Given the description of an element on the screen output the (x, y) to click on. 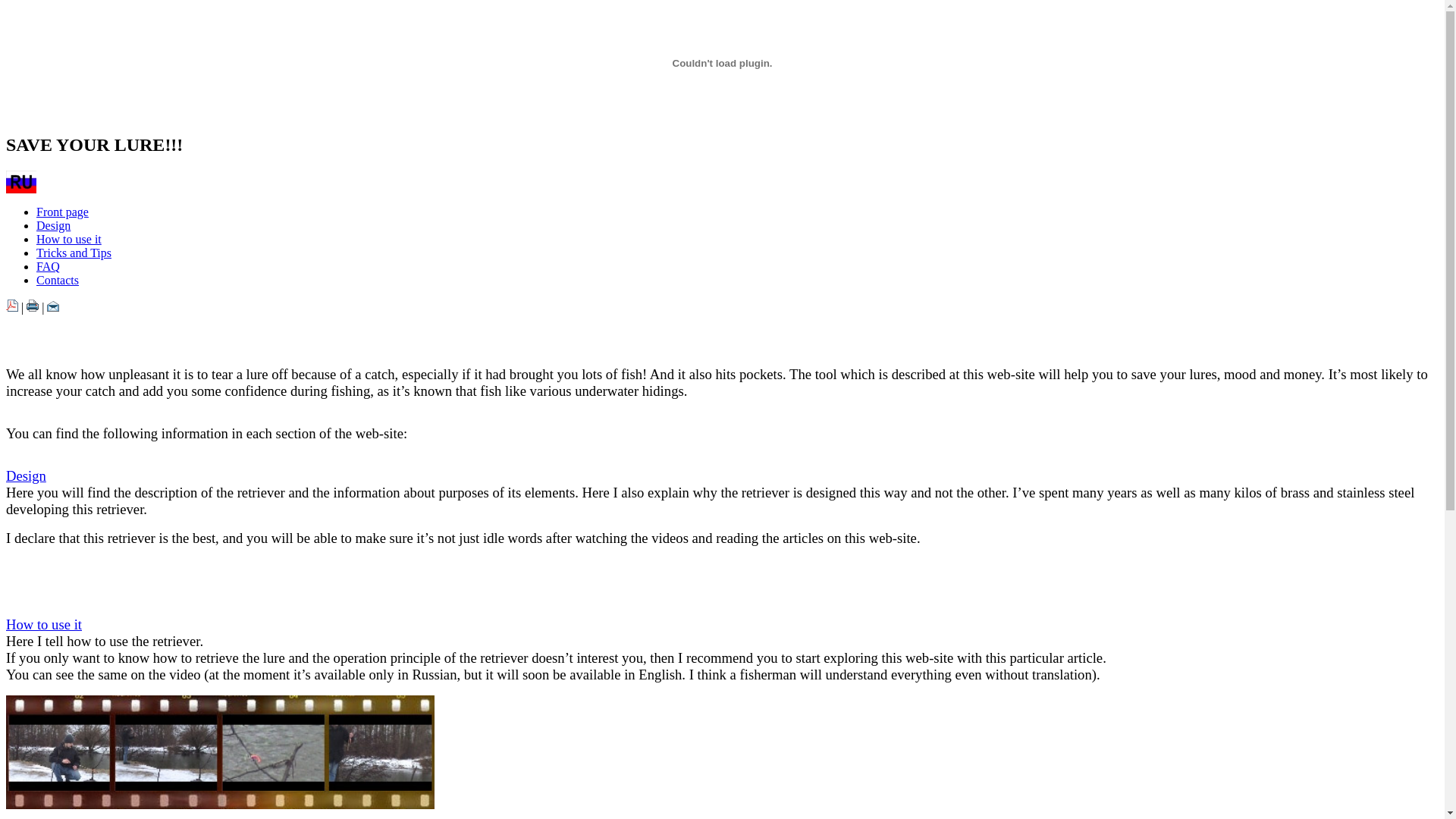
Design Element type: text (53, 225)
FAQ Element type: text (47, 266)
Design Element type: text (26, 476)
How to use it Element type: text (68, 238)
How to use it Element type: text (43, 624)
PDF Element type: hover (12, 307)
Tricks and Tips Element type: text (73, 252)
Contacts Element type: text (57, 279)
E-mail Element type: hover (53, 307)
Front page Element type: text (62, 211)
